Given the description of an element on the screen output the (x, y) to click on. 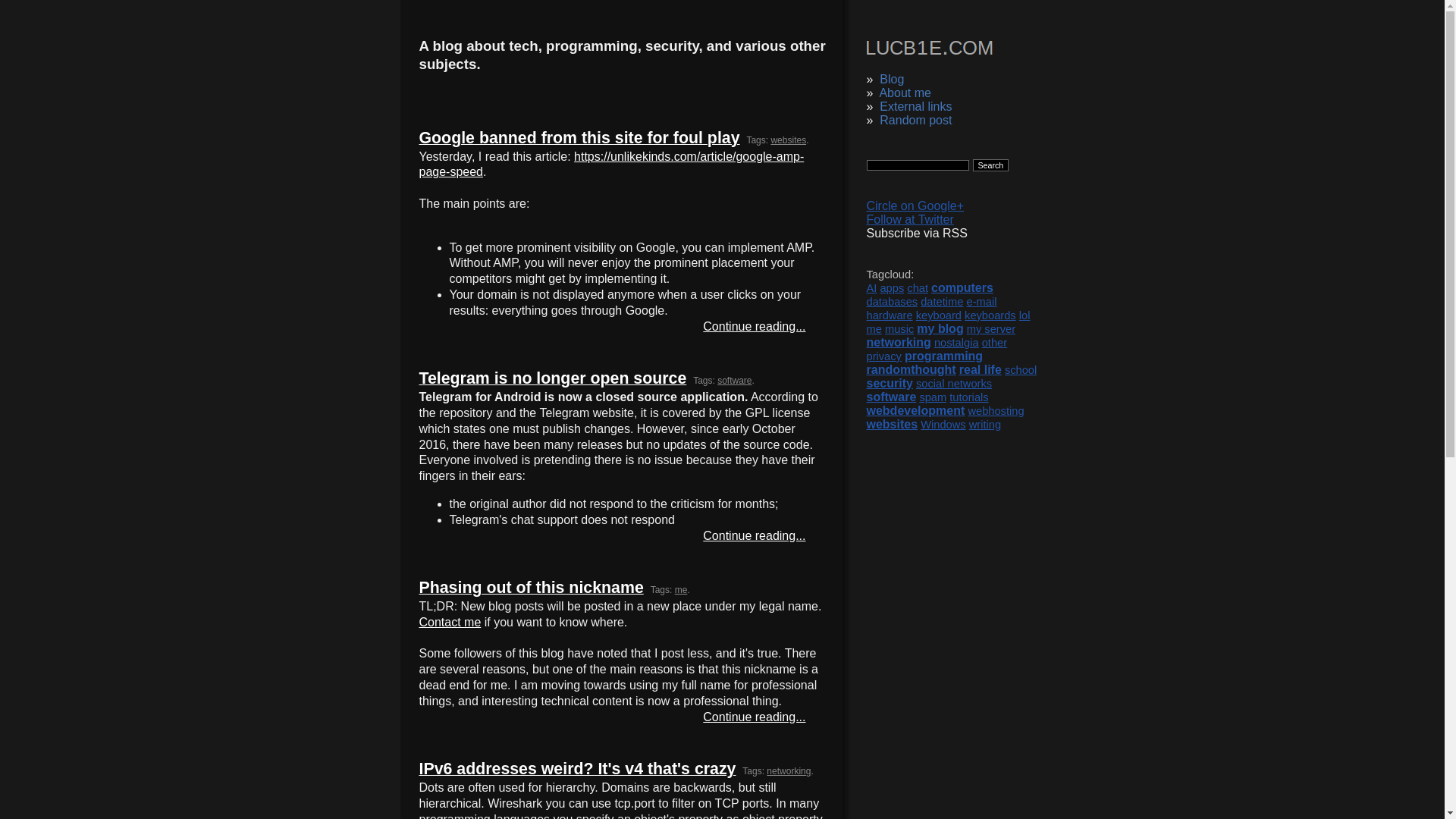
chat (917, 287)
1 post has this tag (1024, 315)
apps (891, 287)
Subscribe via RSS (916, 232)
2 posts have this tag (941, 301)
All posts tagged with networking (788, 770)
me (873, 328)
Search (990, 164)
Random post (915, 119)
6 posts have this tag (889, 315)
